Given the description of an element on the screen output the (x, y) to click on. 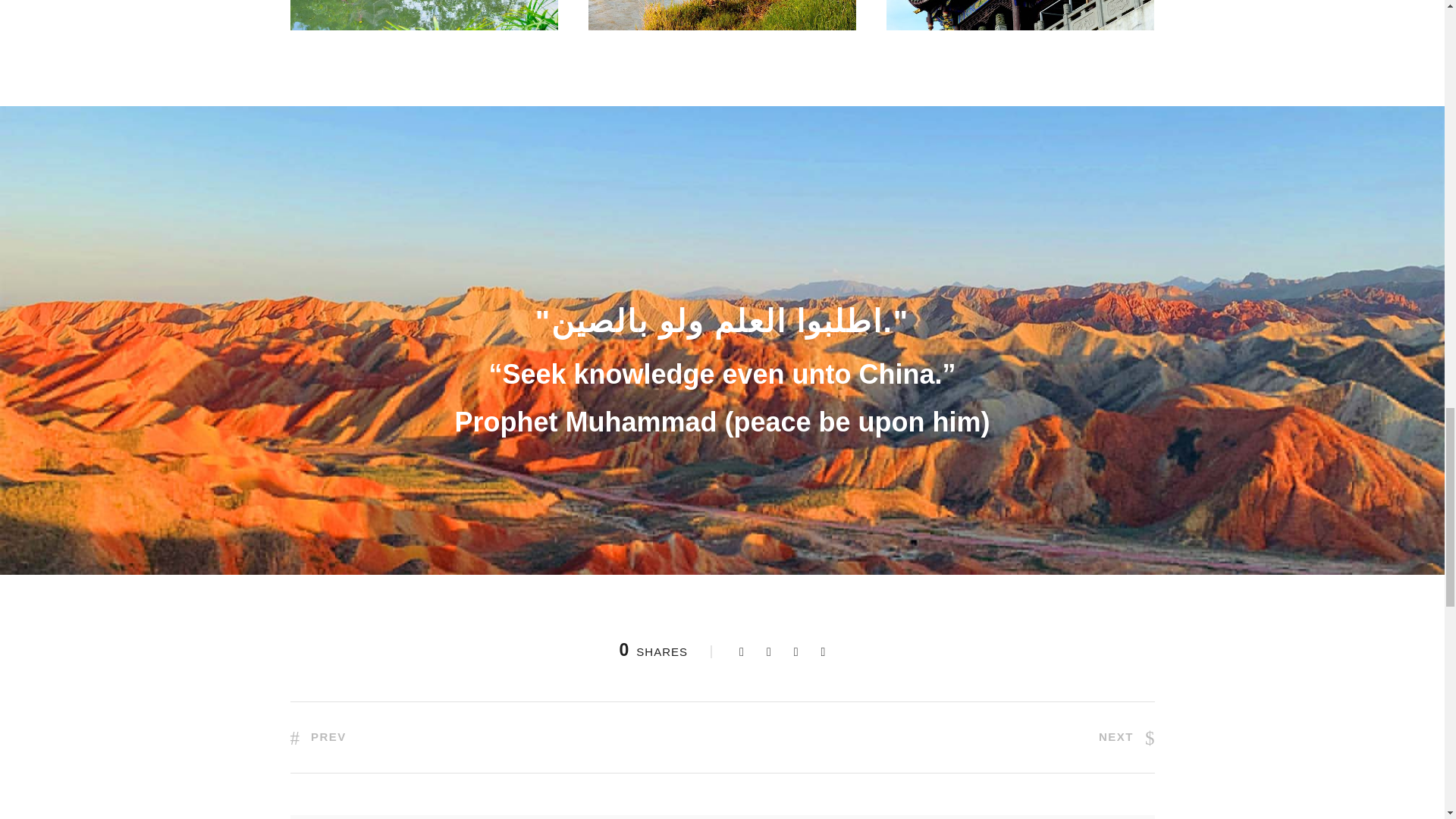
Huanglongxi Ancient Town (423, 15)
Huanglongxi Ancient Town (1020, 15)
Huanglongxi Ancient Town (722, 15)
